Given the description of an element on the screen output the (x, y) to click on. 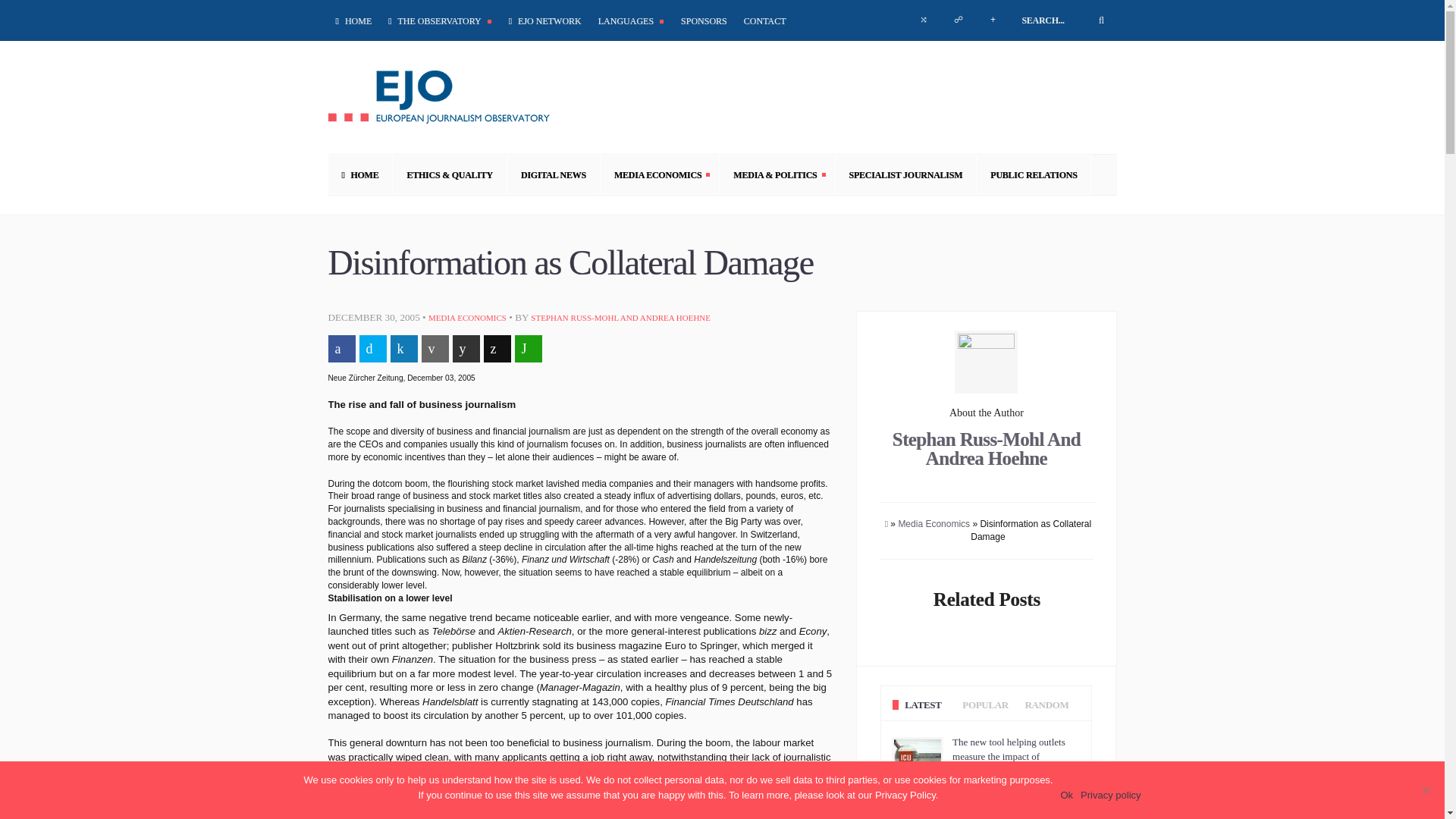
EJO NETWORK (544, 20)
SPONSORS (704, 20)
Search... (1063, 20)
HOME (360, 174)
HOME (354, 20)
DIGITAL NEWS (552, 174)
CONTACT (764, 20)
Posts by Stephan Russ-Mohl and Andrea Hoehne (620, 317)
